Given the description of an element on the screen output the (x, y) to click on. 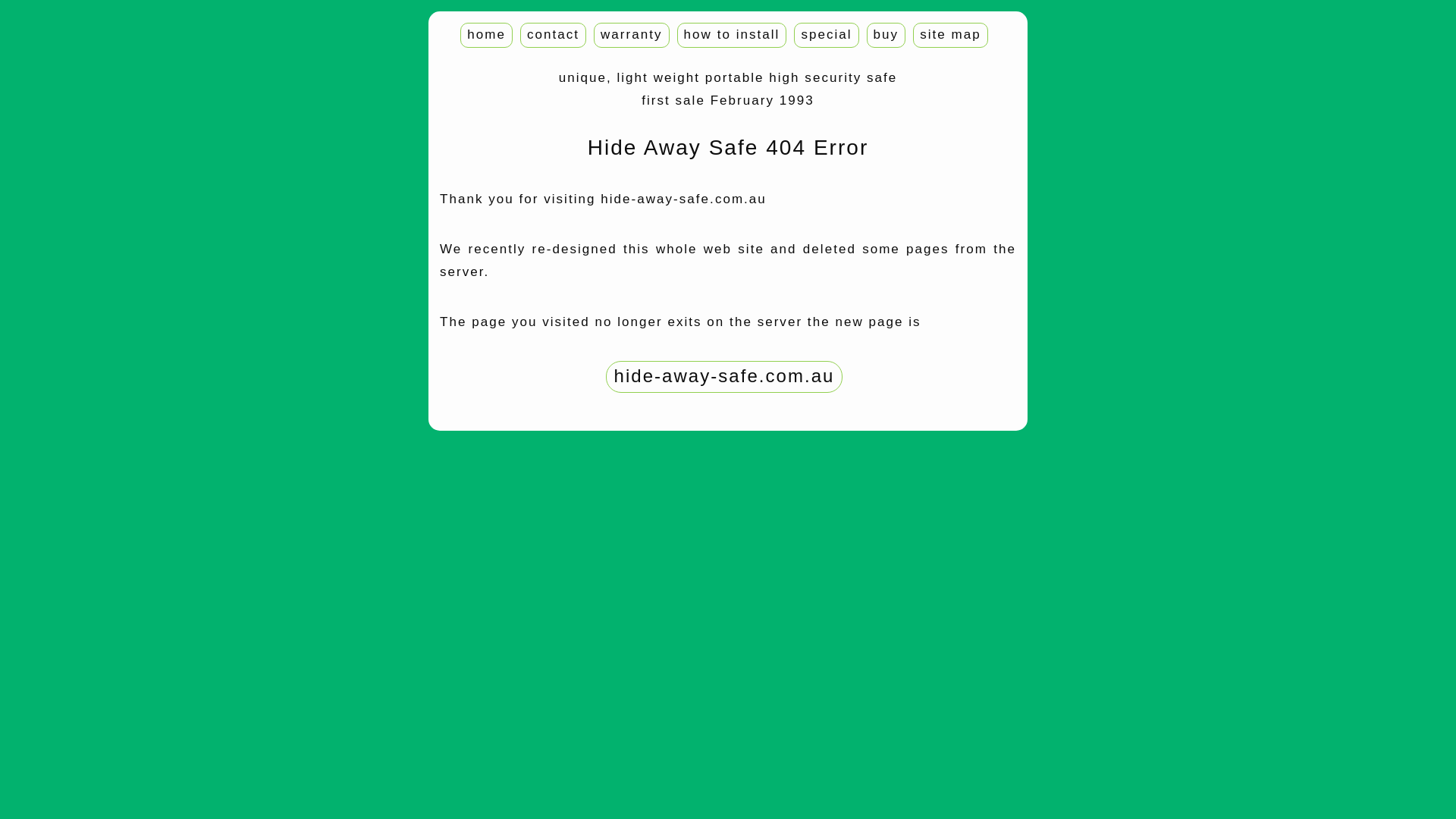
hide-away-safe.com.au Element type: text (724, 375)
how to install Element type: text (732, 34)
home Element type: text (486, 34)
site map Element type: text (950, 34)
buy Element type: text (886, 34)
contact Element type: text (553, 34)
special Element type: text (825, 34)
warranty Element type: text (631, 34)
